Given the description of an element on the screen output the (x, y) to click on. 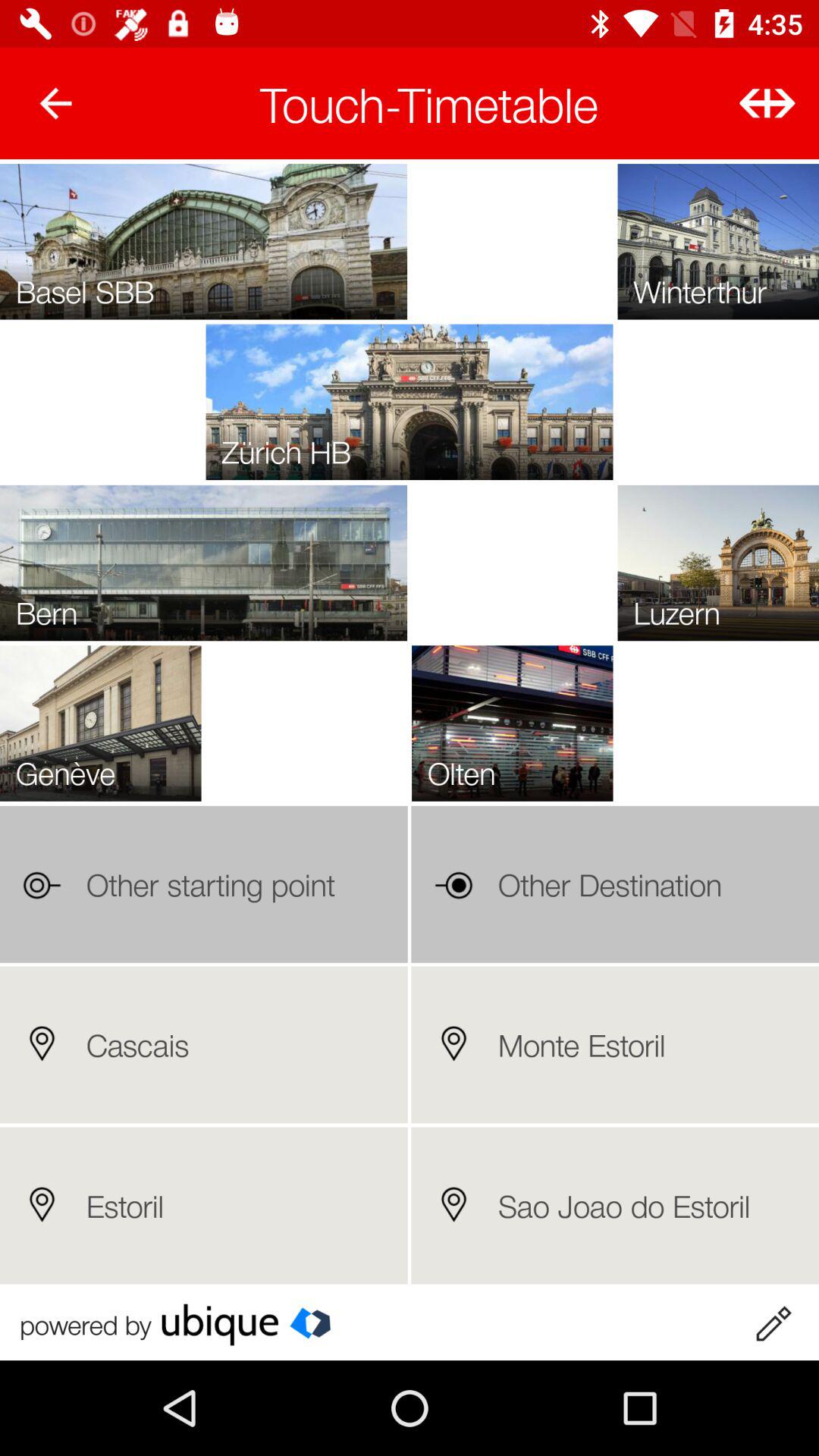
go to previous page (55, 103)
